Given the description of an element on the screen output the (x, y) to click on. 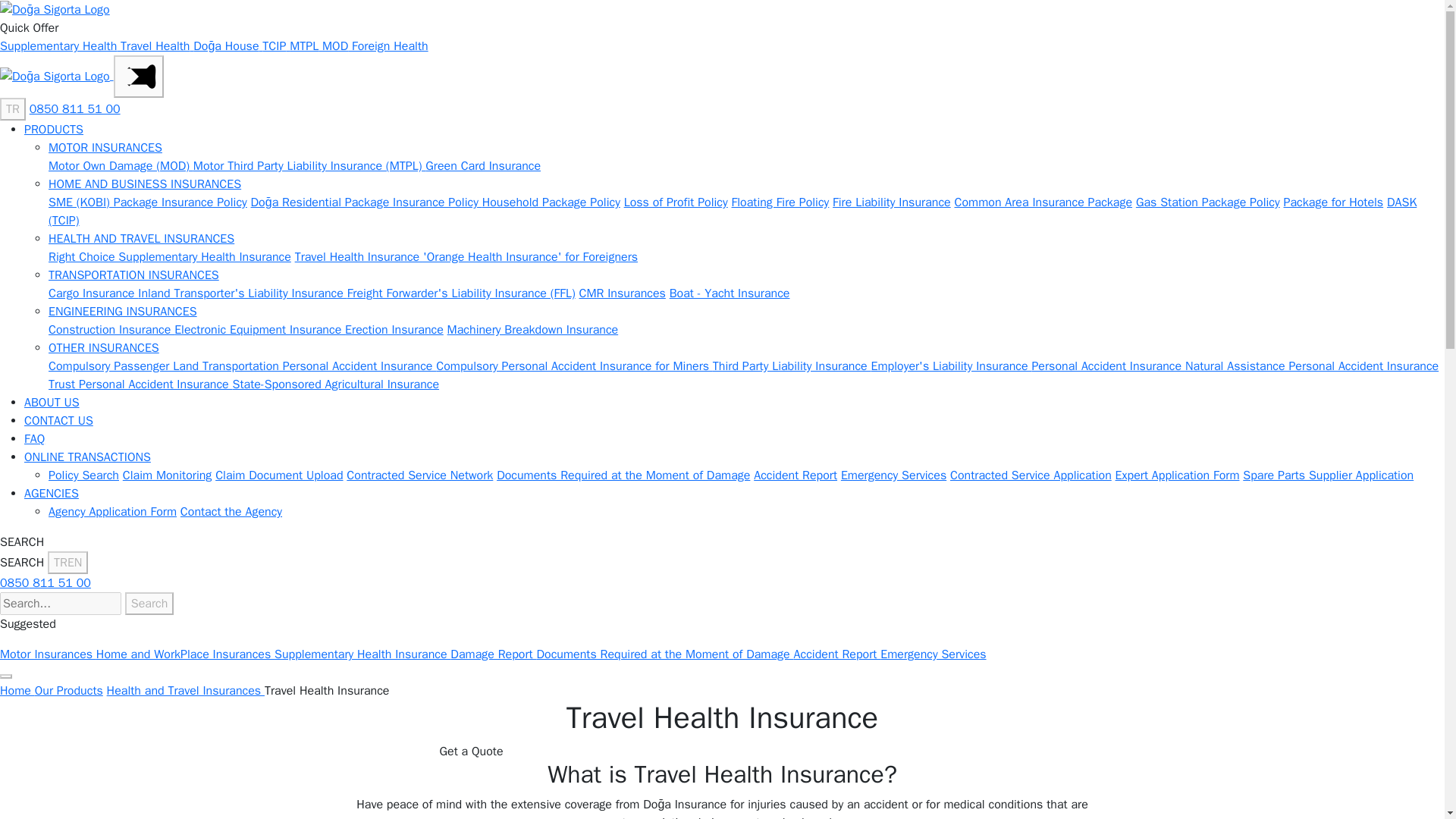
Package for Hotels (1332, 201)
'Orange Health Insurance' for Foreigners (530, 256)
MTPL (305, 46)
Fire Liability Insurance (891, 201)
TRANSPORTATION INSURANCES (133, 274)
Household Package Policy (550, 201)
Inland Transporter's Liability Insurance (242, 293)
Cargo Insurance (93, 293)
ENGINEERING INSURANCES (122, 311)
TCIP (275, 46)
